Given the description of an element on the screen output the (x, y) to click on. 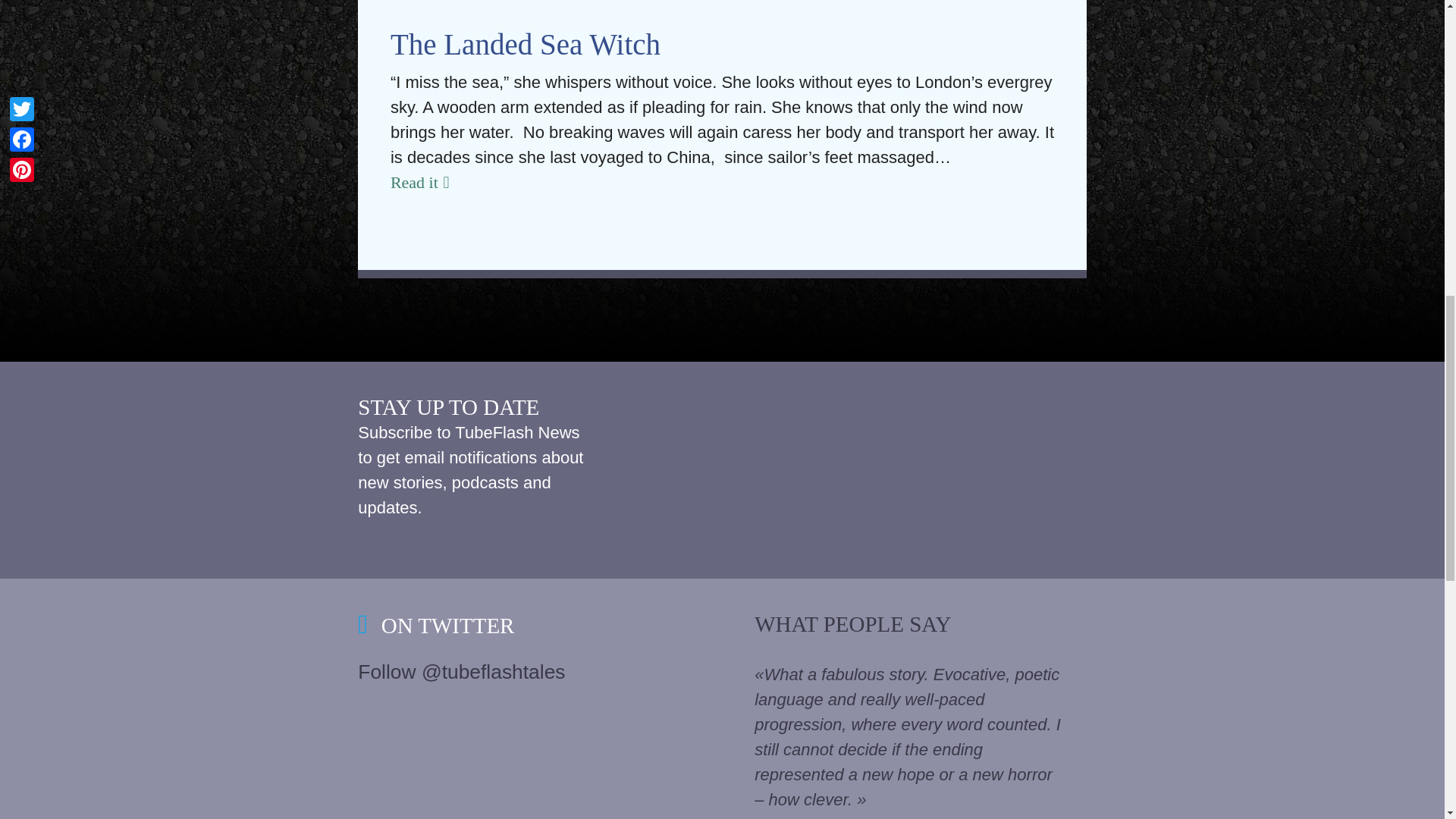
The Landed Sea Witch (525, 43)
Read it (721, 182)
ON TWITTER (444, 625)
